Given the description of an element on the screen output the (x, y) to click on. 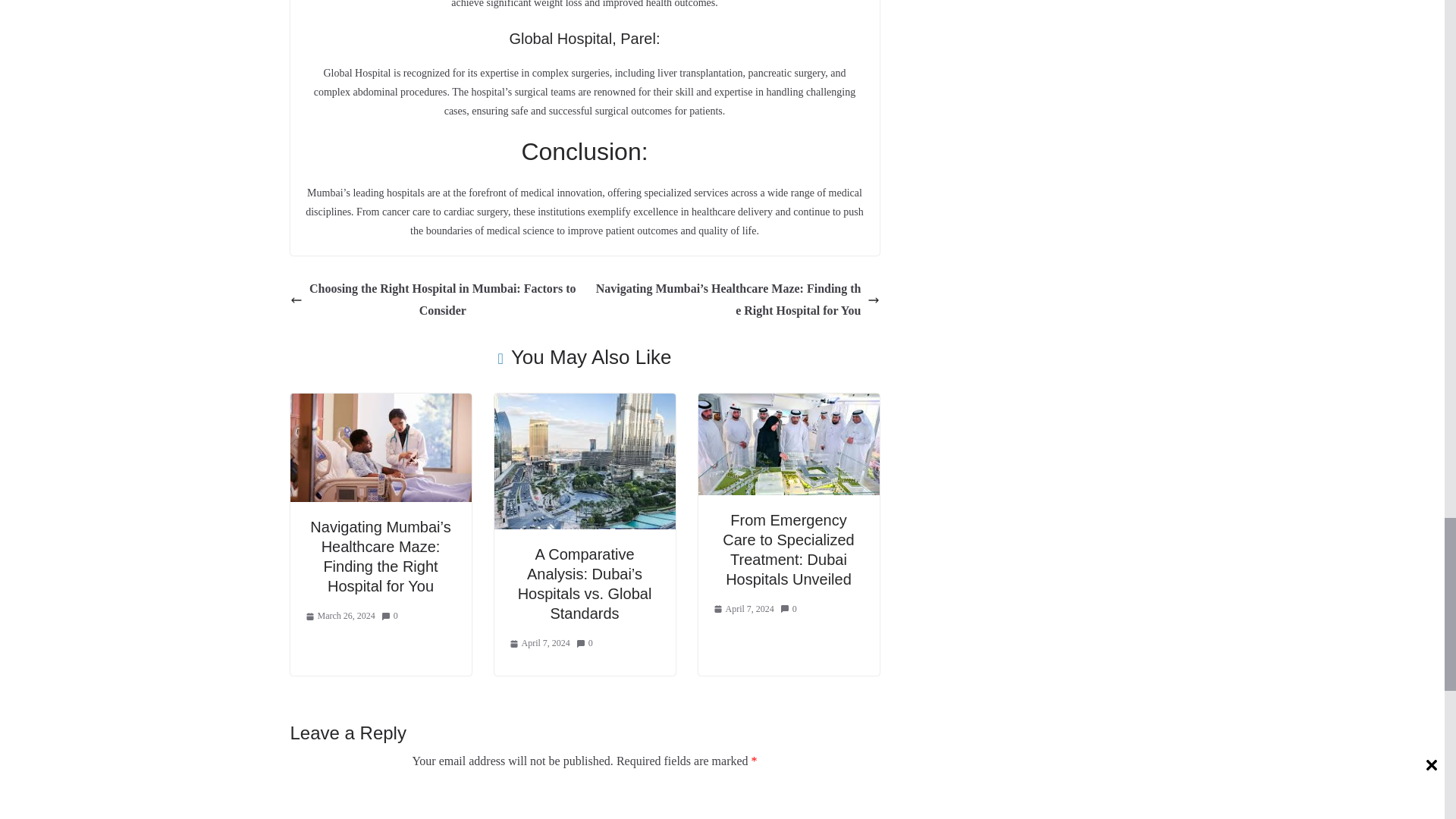
Choosing the Right Hospital in Mumbai: Factors to Consider (432, 300)
4:35 am (743, 609)
4:39 am (539, 643)
March 26, 2024 (339, 616)
April 7, 2024 (539, 643)
April 7, 2024 (743, 609)
7:27 am (339, 616)
